Given the description of an element on the screen output the (x, y) to click on. 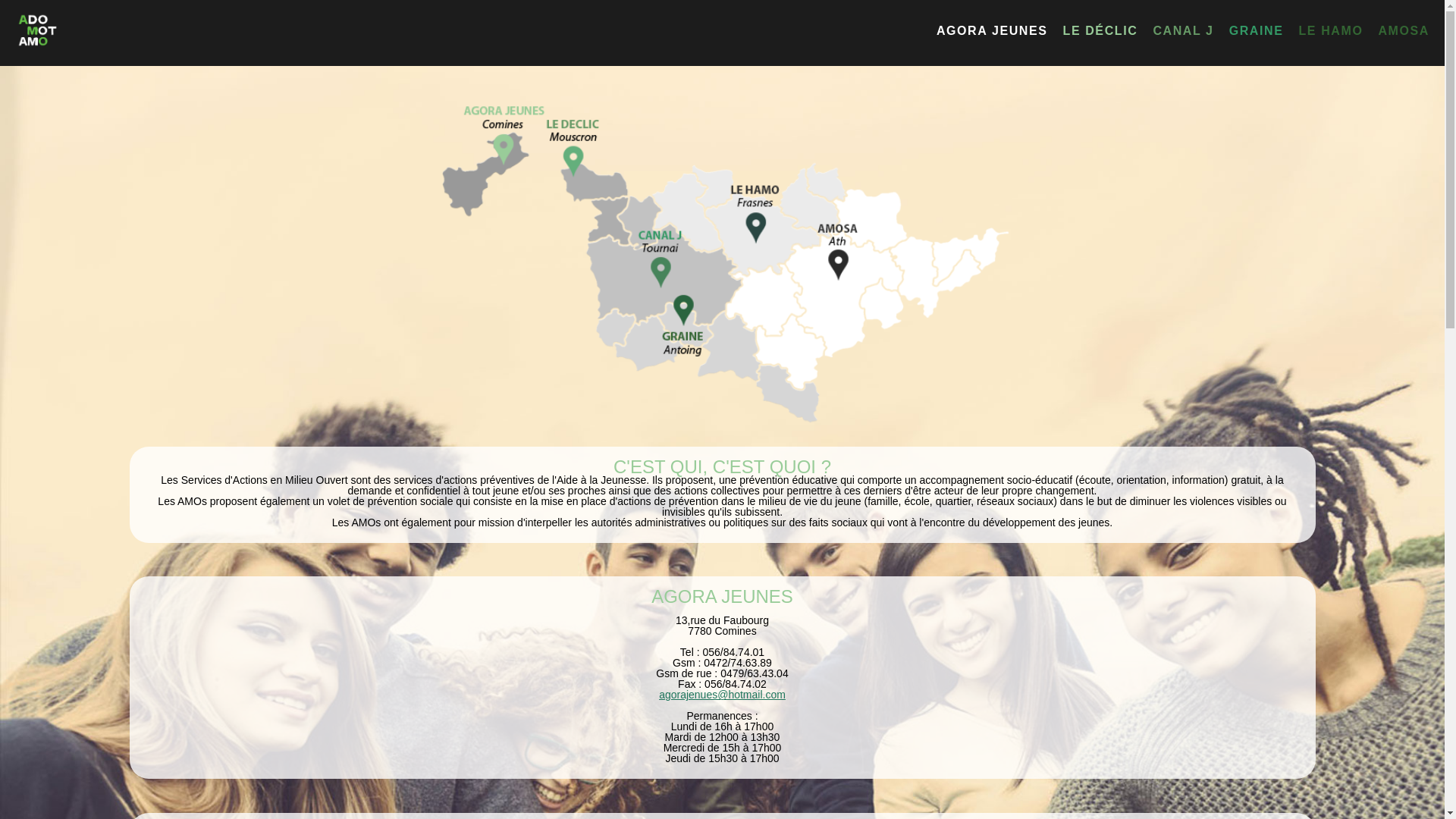
LE HAMO Element type: text (1330, 30)
AGORA JEUNES Element type: text (991, 30)
agorajenues@hotmail.com Element type: text (721, 694)
AMOSA Element type: text (1403, 30)
GRAINE Element type: text (1256, 30)
CANAL J Element type: text (1182, 30)
